Given the description of an element on the screen output the (x, y) to click on. 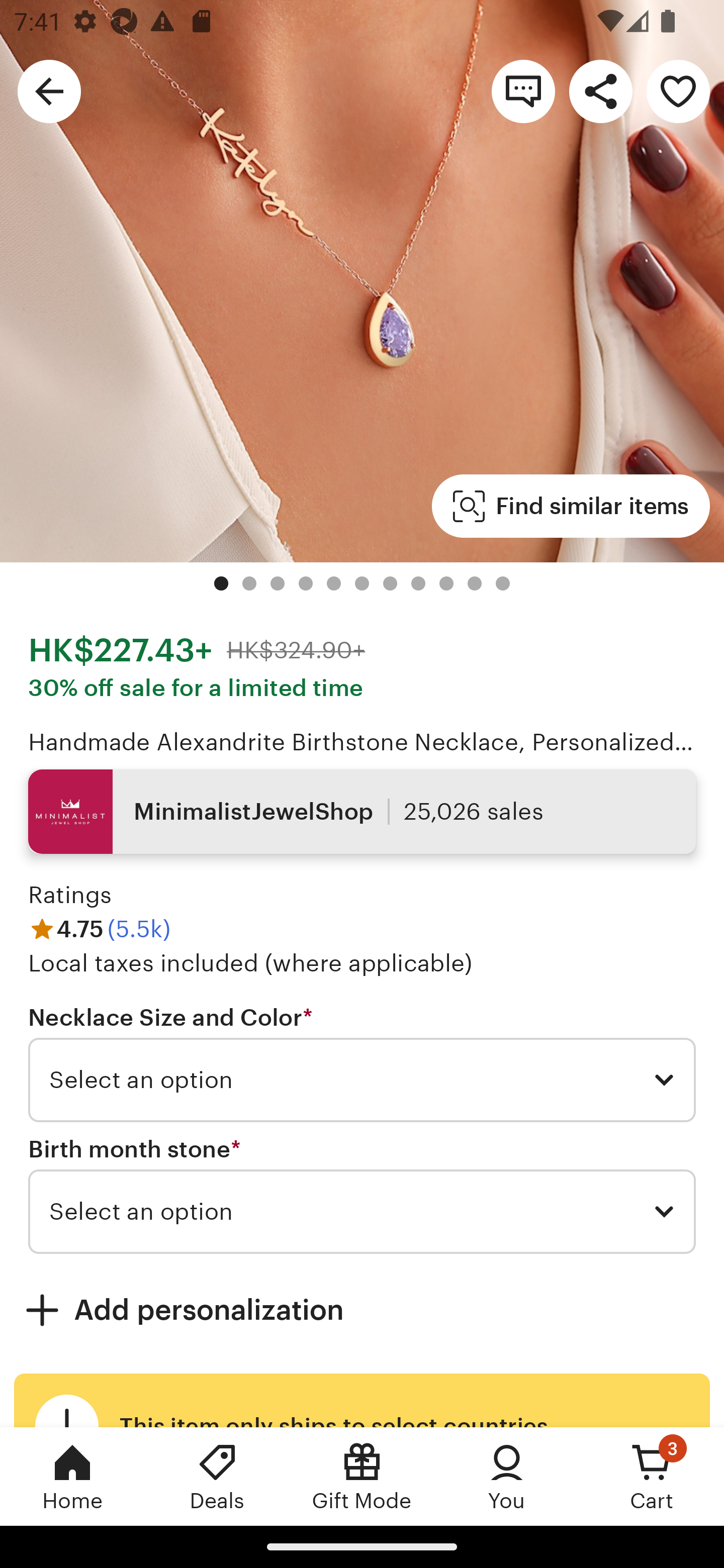
Navigate up (49, 90)
Contact shop (523, 90)
Share (600, 90)
Find similar items (571, 506)
MinimalistJewelShop 25,026 sales (361, 811)
Ratings (70, 894)
4.75 (5.5k) (99, 929)
Select an option (361, 1080)
Birth month stone * Required Select an option (361, 1195)
Select an option (361, 1211)
Add personalization Add personalization Required (362, 1309)
Deals (216, 1475)
Gift Mode (361, 1475)
You (506, 1475)
Cart, 3 new notifications Cart (651, 1475)
